Given the description of an element on the screen output the (x, y) to click on. 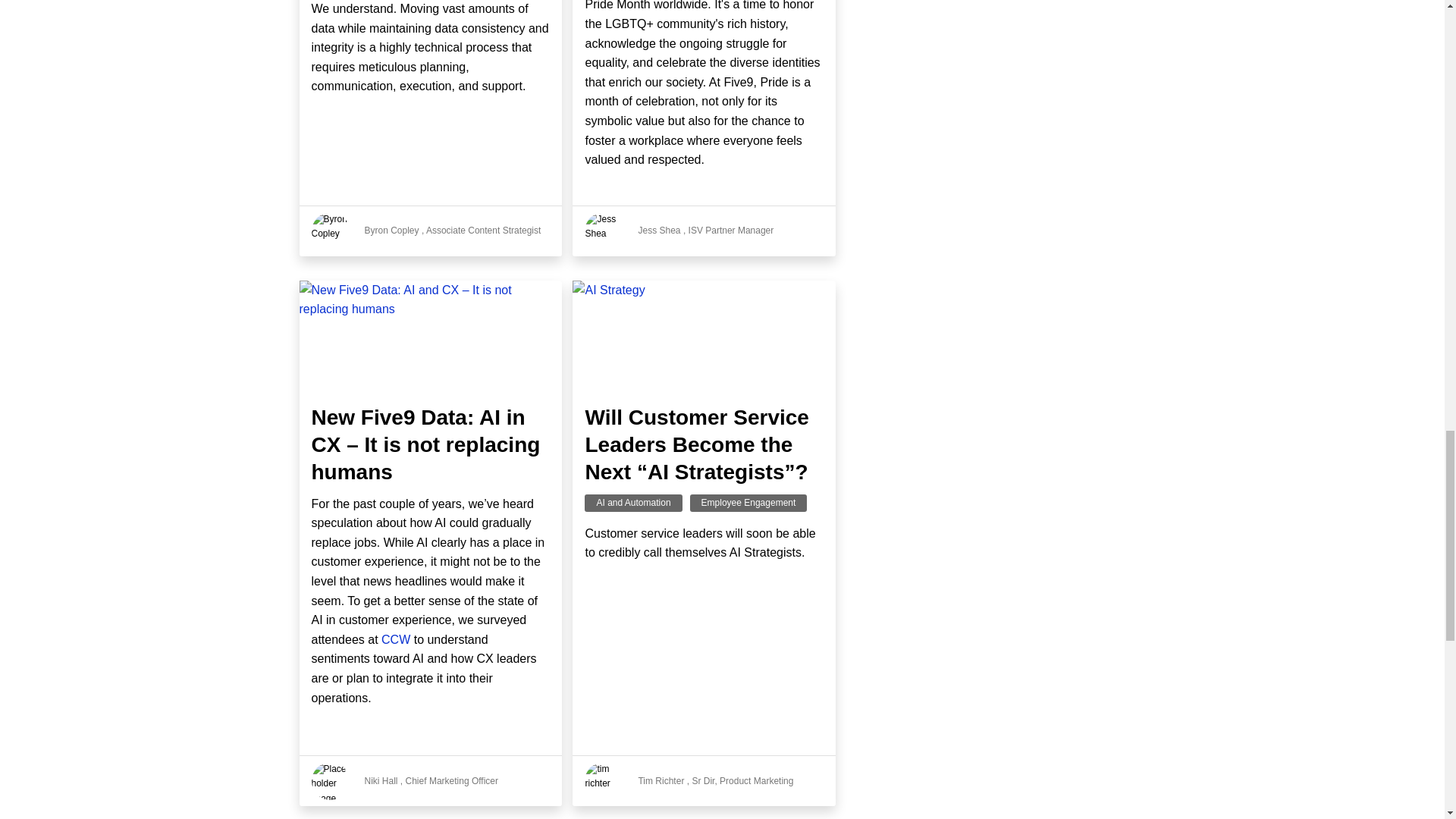
Placeholder image (330, 781)
